Given the description of an element on the screen output the (x, y) to click on. 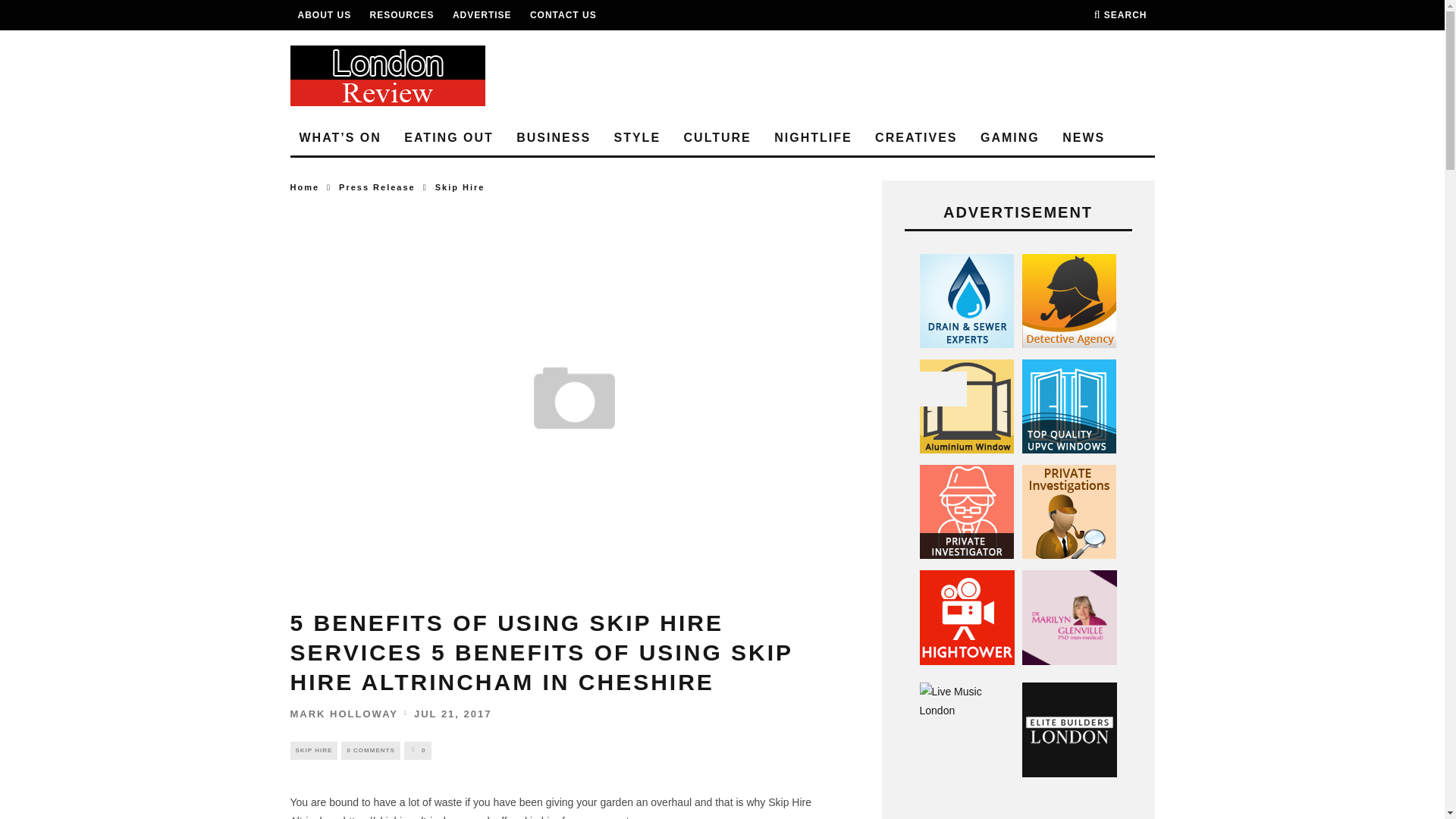
View all posts in Skip Hire (459, 186)
CULTURE (717, 138)
0 COMMENTS (369, 751)
CONTACT US (562, 15)
NIGHTLIFE (812, 138)
View all posts in Press Release (376, 186)
GAMING (1009, 138)
RESOURCES (401, 15)
BUSINESS (552, 138)
Press Release (376, 186)
Search (1120, 15)
Home (303, 186)
EATING OUT (448, 138)
View all posts in Skip Hire (313, 751)
SEARCH (1120, 15)
